Given the description of an element on the screen output the (x, y) to click on. 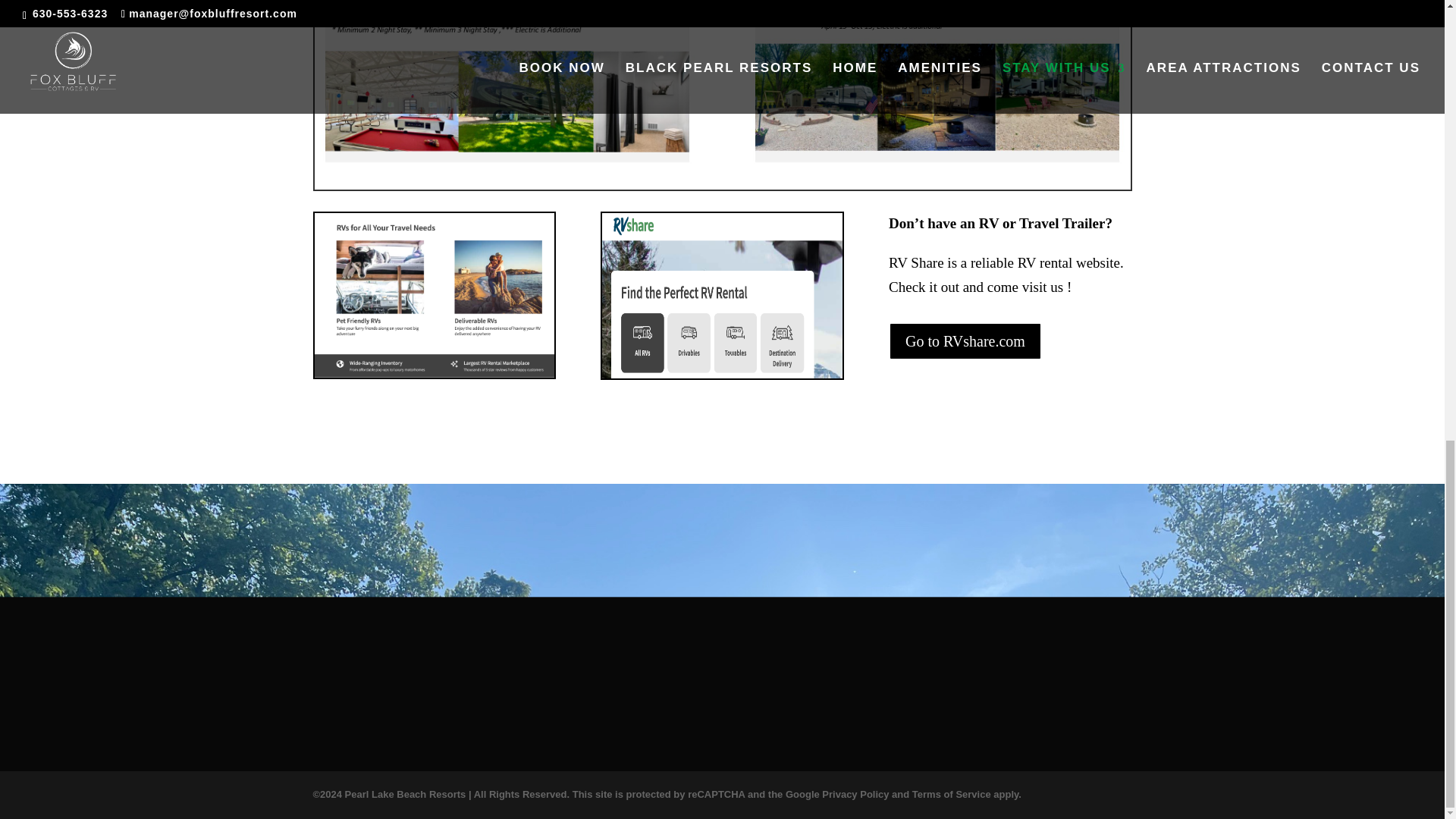
Seasonal Rates 2024-1 (936, 84)
Go to RVshare.com (965, 341)
Transient Rates 2024-1 (506, 84)
Screenshot 2024-02-26 at 3.57.03 PM (433, 294)
Screenshot 2024-02-26 at 3.58.31 PM (721, 295)
